Given the description of an element on the screen output the (x, y) to click on. 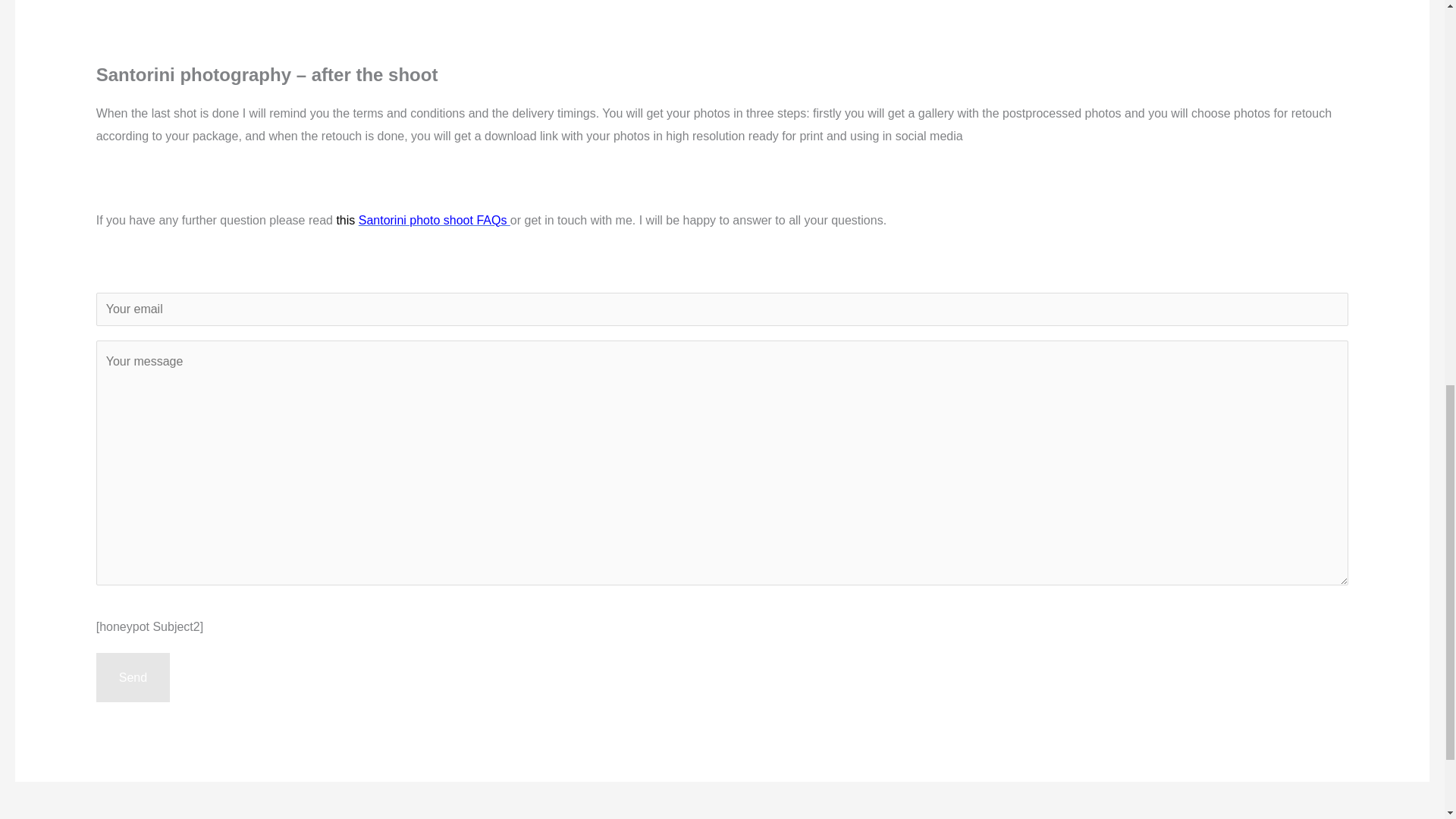
Santorini photo shoot FAQs  (434, 219)
Send (133, 677)
Send (133, 677)
